Given the description of an element on the screen output the (x, y) to click on. 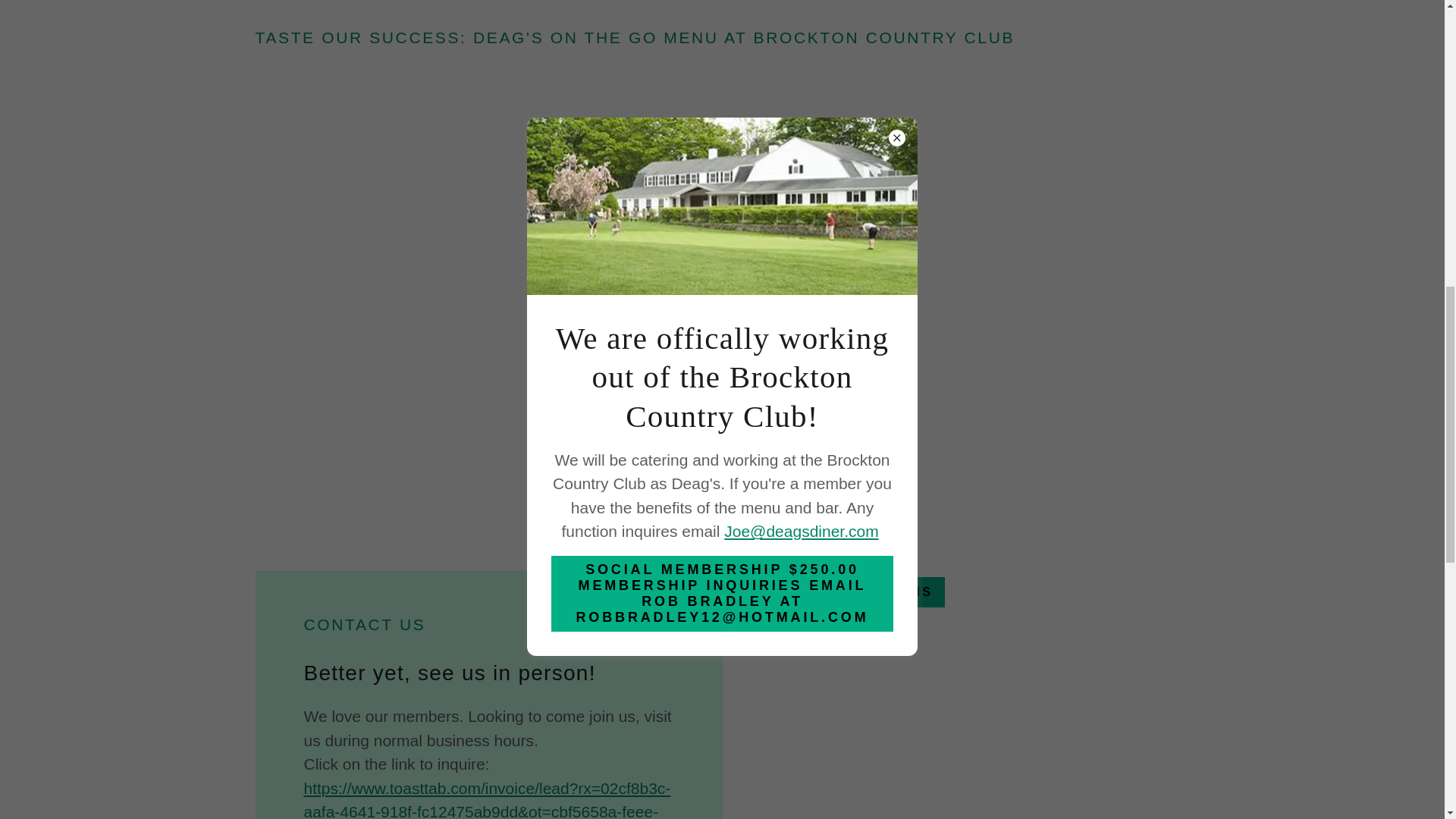
GET DIRECTIONS (854, 592)
